Given the description of an element on the screen output the (x, y) to click on. 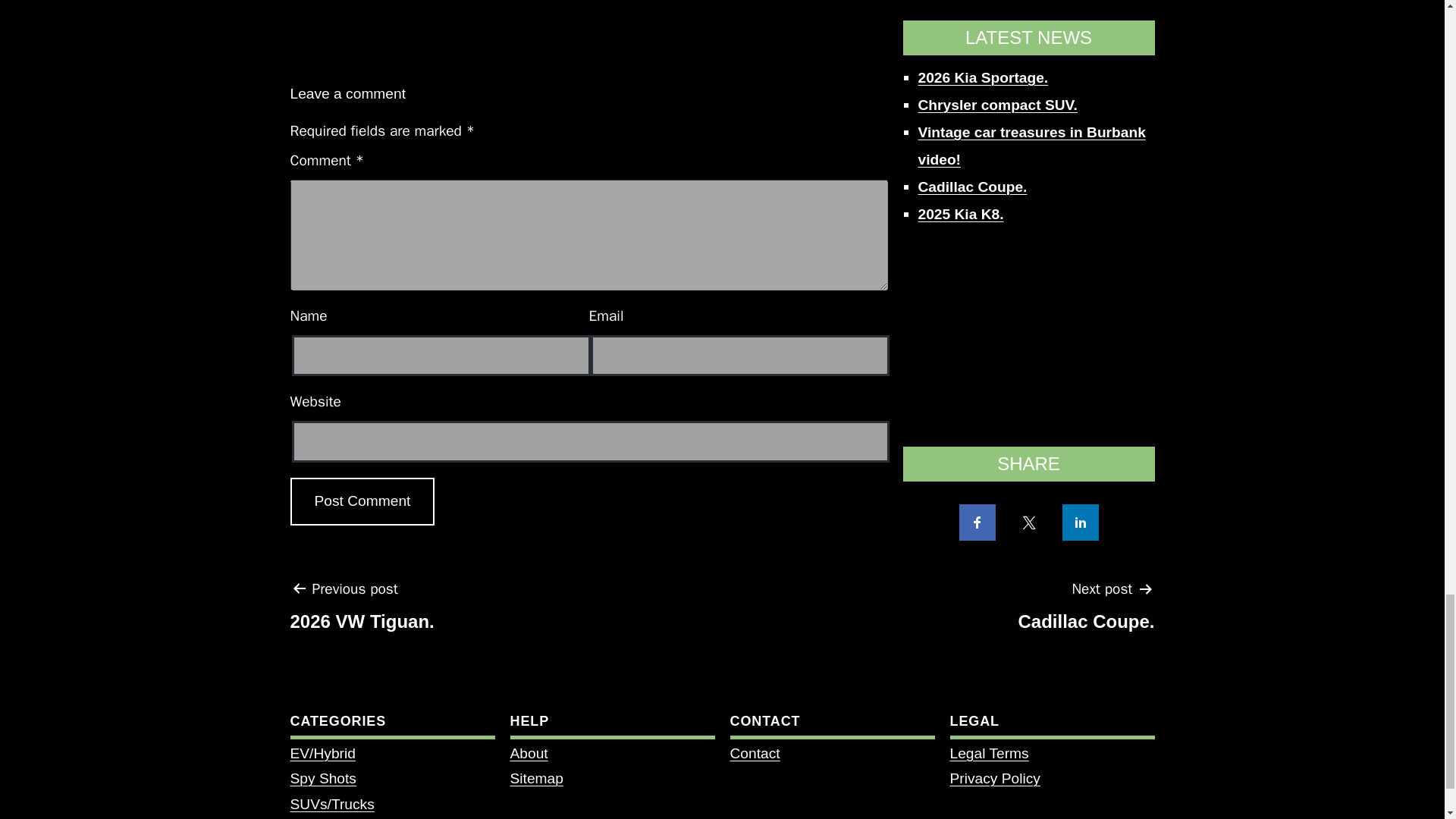
Post Comment (361, 501)
Contact (753, 753)
About (528, 753)
Privacy Policy (994, 778)
Sitemap (535, 778)
Spy Shots (1085, 610)
Post Comment (322, 778)
Legal Terms (361, 501)
